Given the description of an element on the screen output the (x, y) to click on. 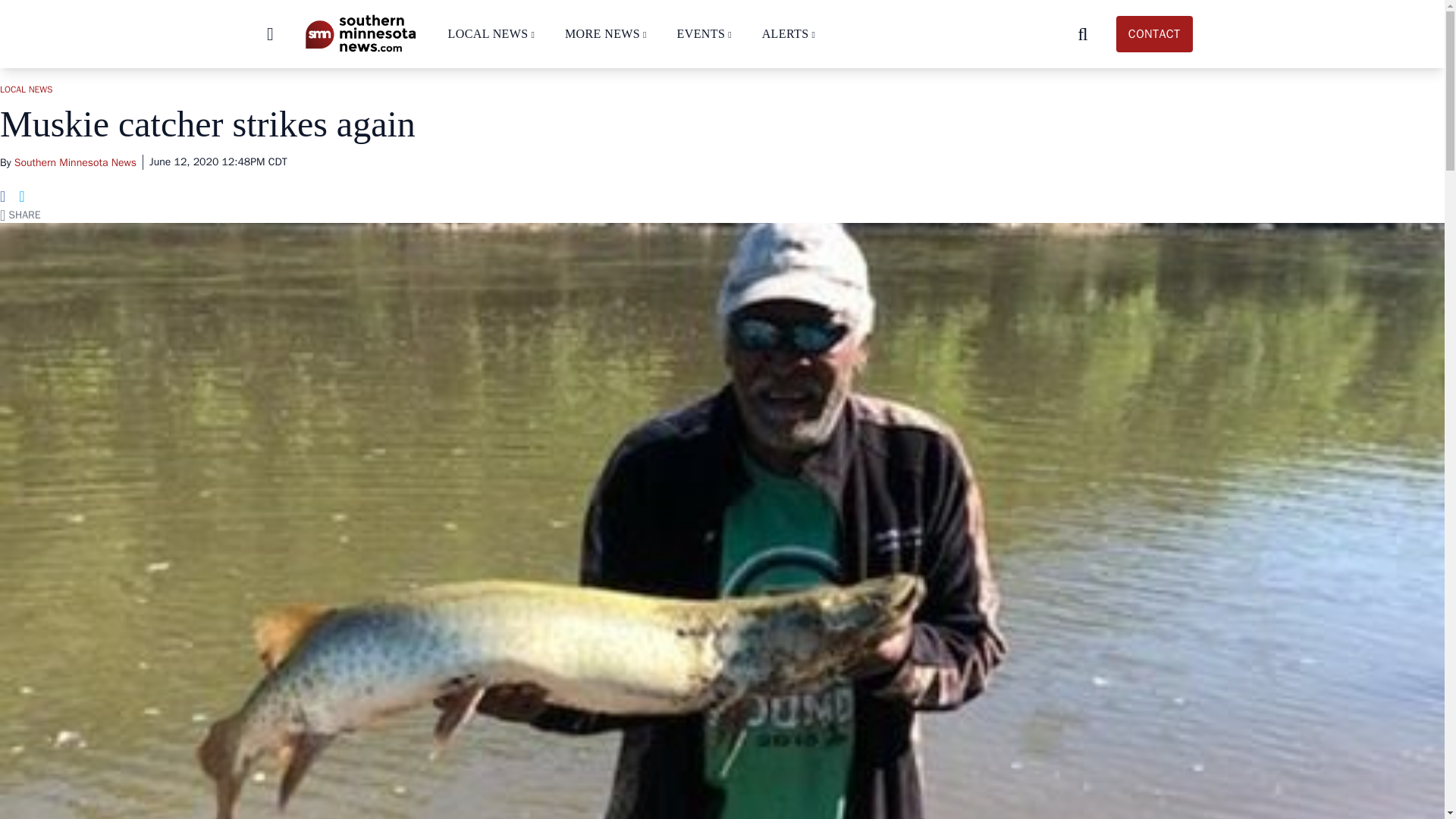
LOCAL NEWS (486, 33)
MORE NEWS (602, 33)
Southern Minnesota News (359, 33)
